Given the description of an element on the screen output the (x, y) to click on. 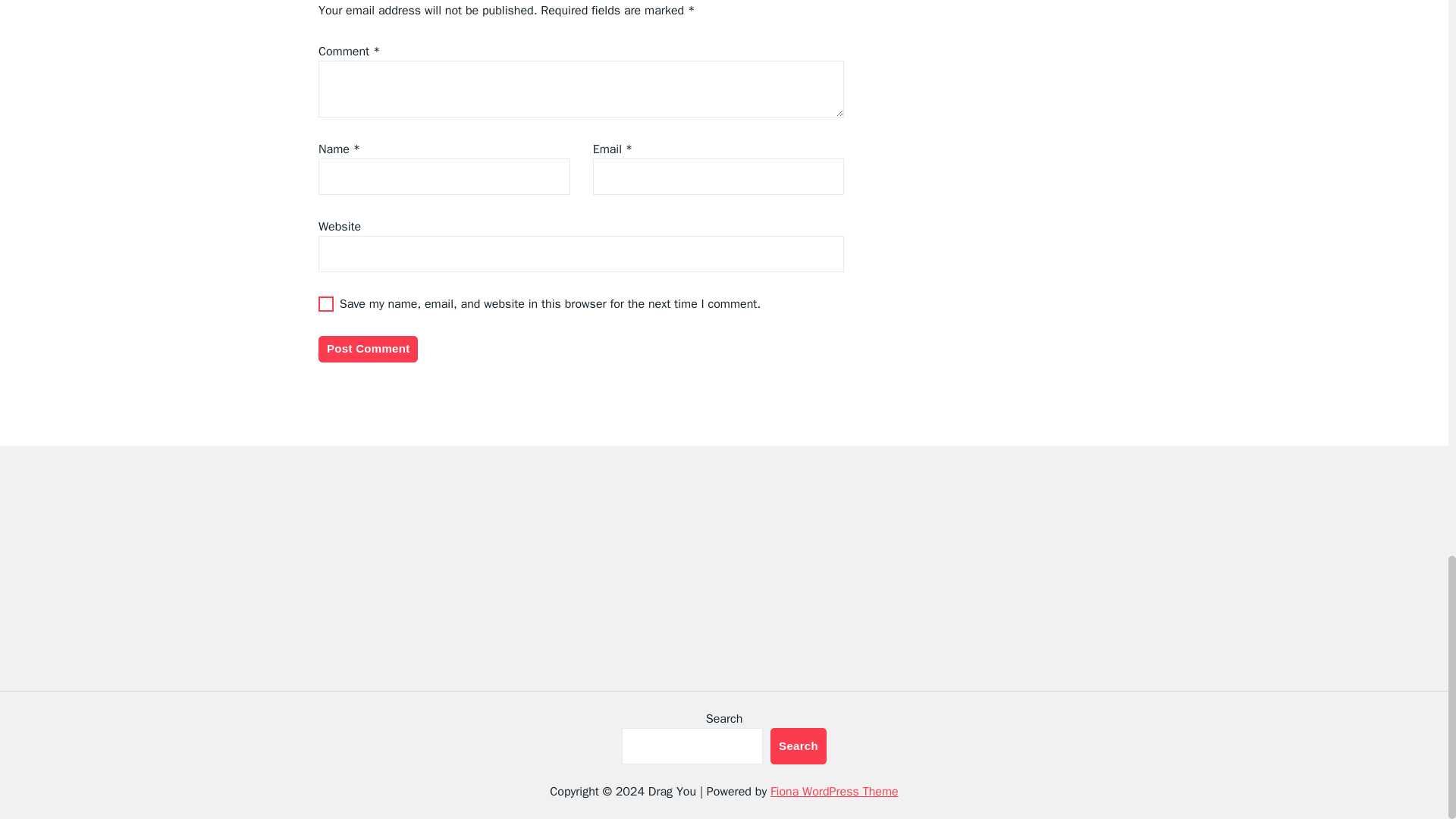
Post Comment (367, 348)
yes (325, 304)
